Given the description of an element on the screen output the (x, y) to click on. 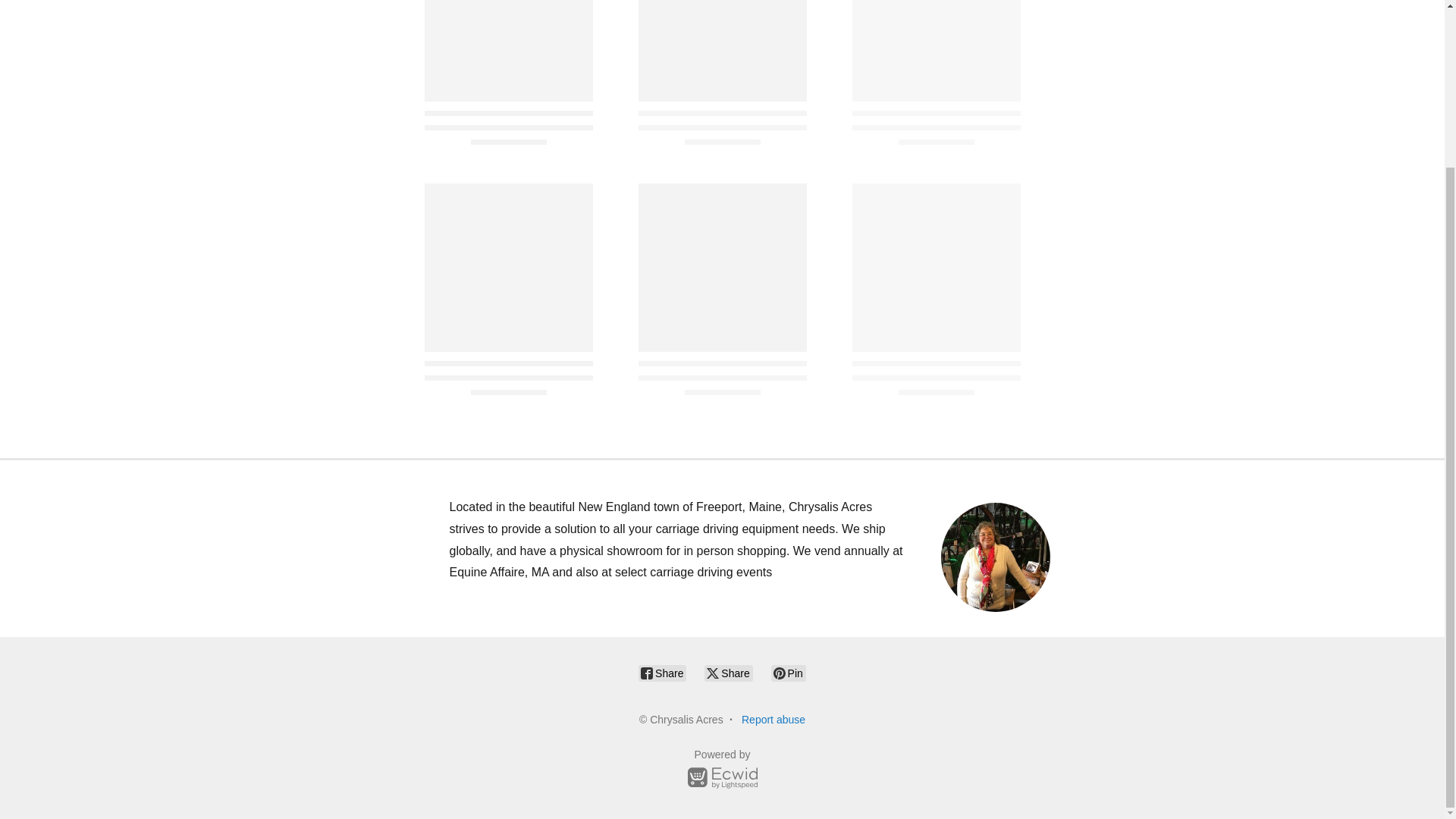
Report abuse (773, 719)
Share (728, 673)
Share (662, 673)
Pin (788, 673)
Powered by (722, 771)
